Given the description of an element on the screen output the (x, y) to click on. 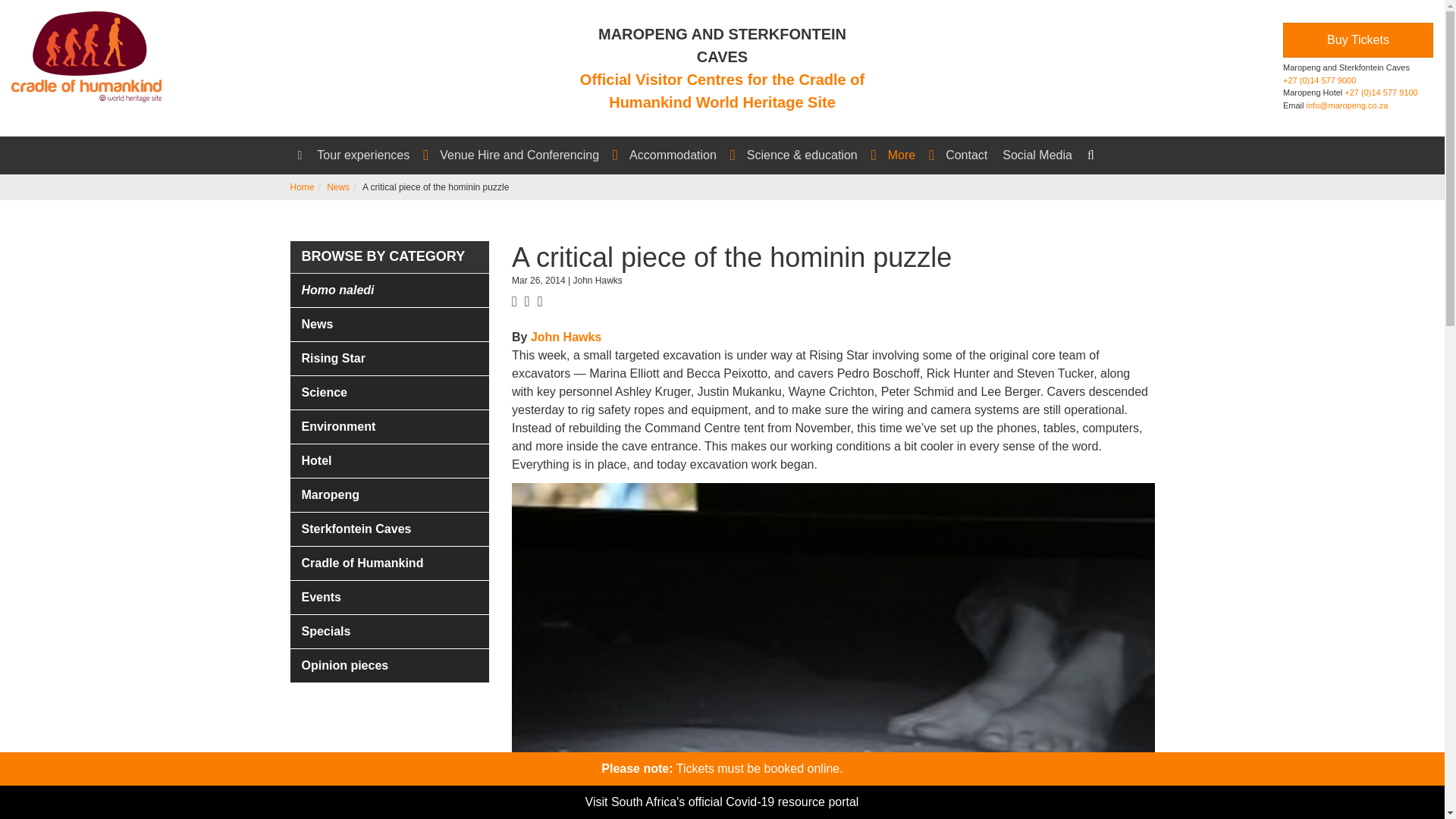
News (337, 186)
Accommodation (680, 155)
Tour experiences (370, 155)
Home (301, 186)
Social Media (1037, 155)
More (908, 155)
Buy Tickets (1357, 39)
Venue Hire and Conferencing (526, 155)
Contact (965, 155)
